Given the description of an element on the screen output the (x, y) to click on. 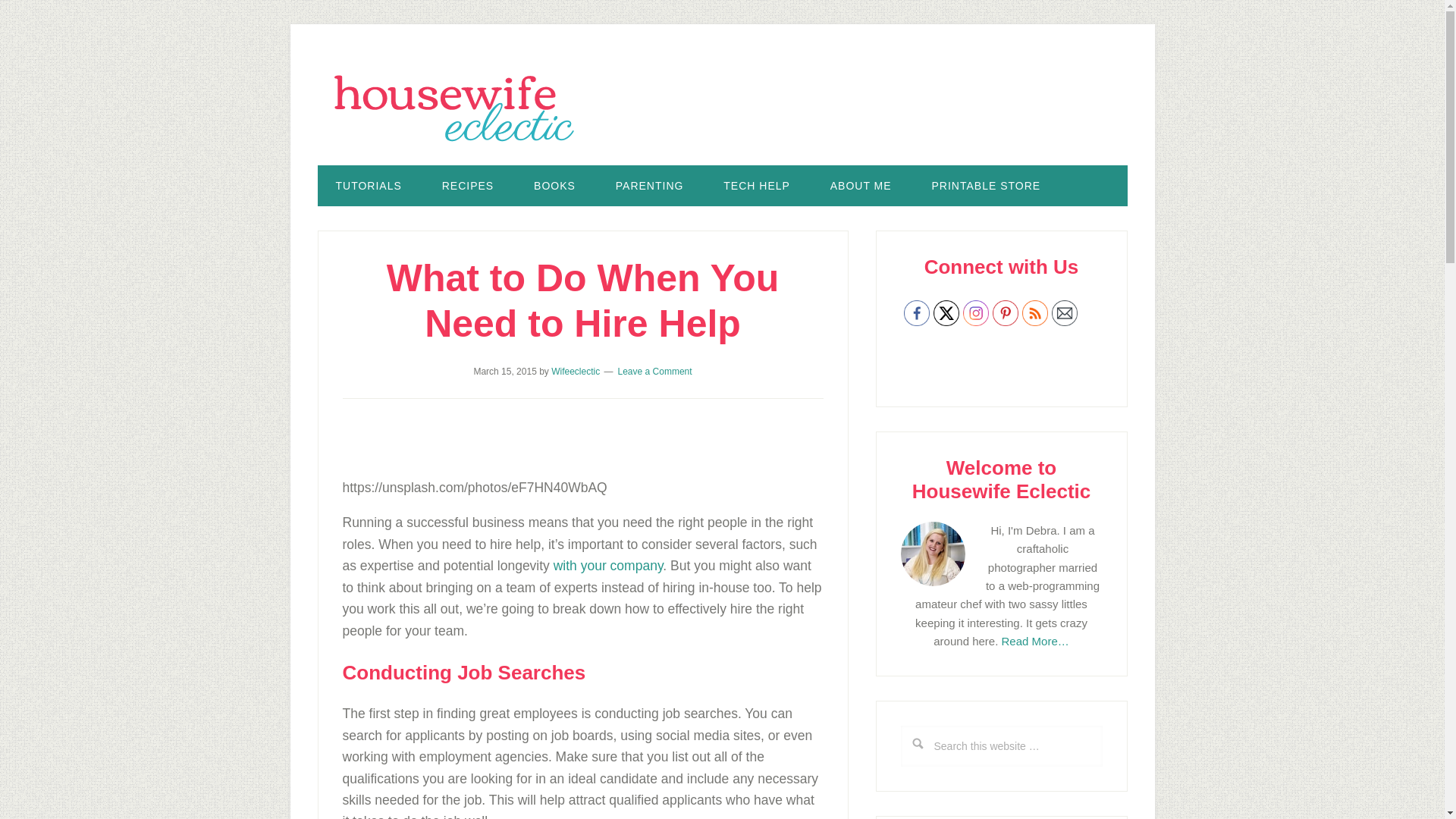
ABOUT ME (861, 185)
with your company (608, 565)
Follow by Email (1064, 312)
Housewife Eclectic (721, 107)
TUTORIALS (368, 185)
PRINTABLE STORE (986, 185)
PARENTING (648, 185)
Facebook (917, 312)
RSS (1035, 312)
Instagram (975, 312)
Pinterest (1004, 312)
TECH HELP (756, 185)
Twitter (945, 312)
